Given the description of an element on the screen output the (x, y) to click on. 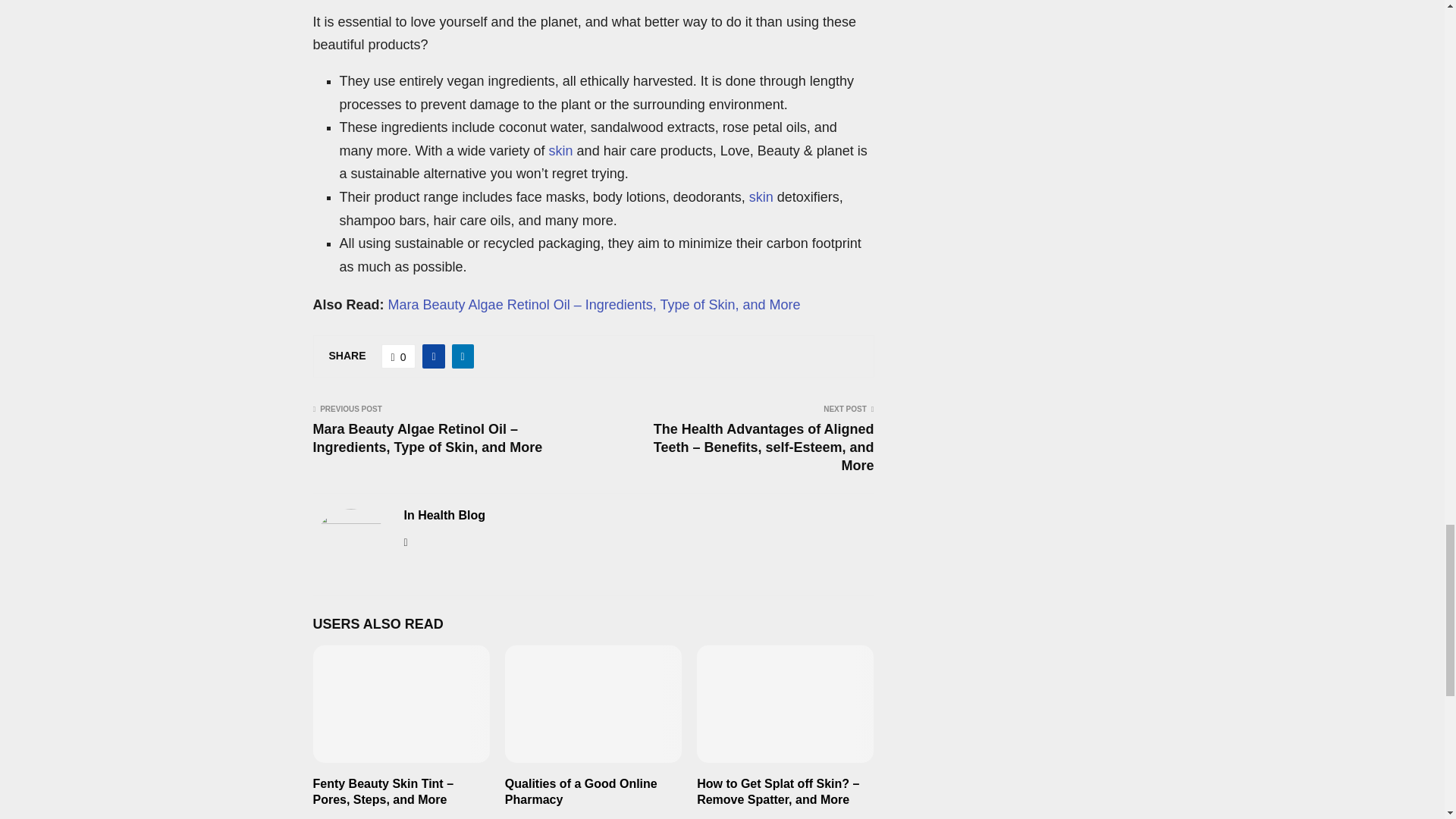
0 (398, 355)
Like (398, 355)
Posts by In Health Blog (443, 515)
skin (761, 196)
skin (560, 150)
